Given the description of an element on the screen output the (x, y) to click on. 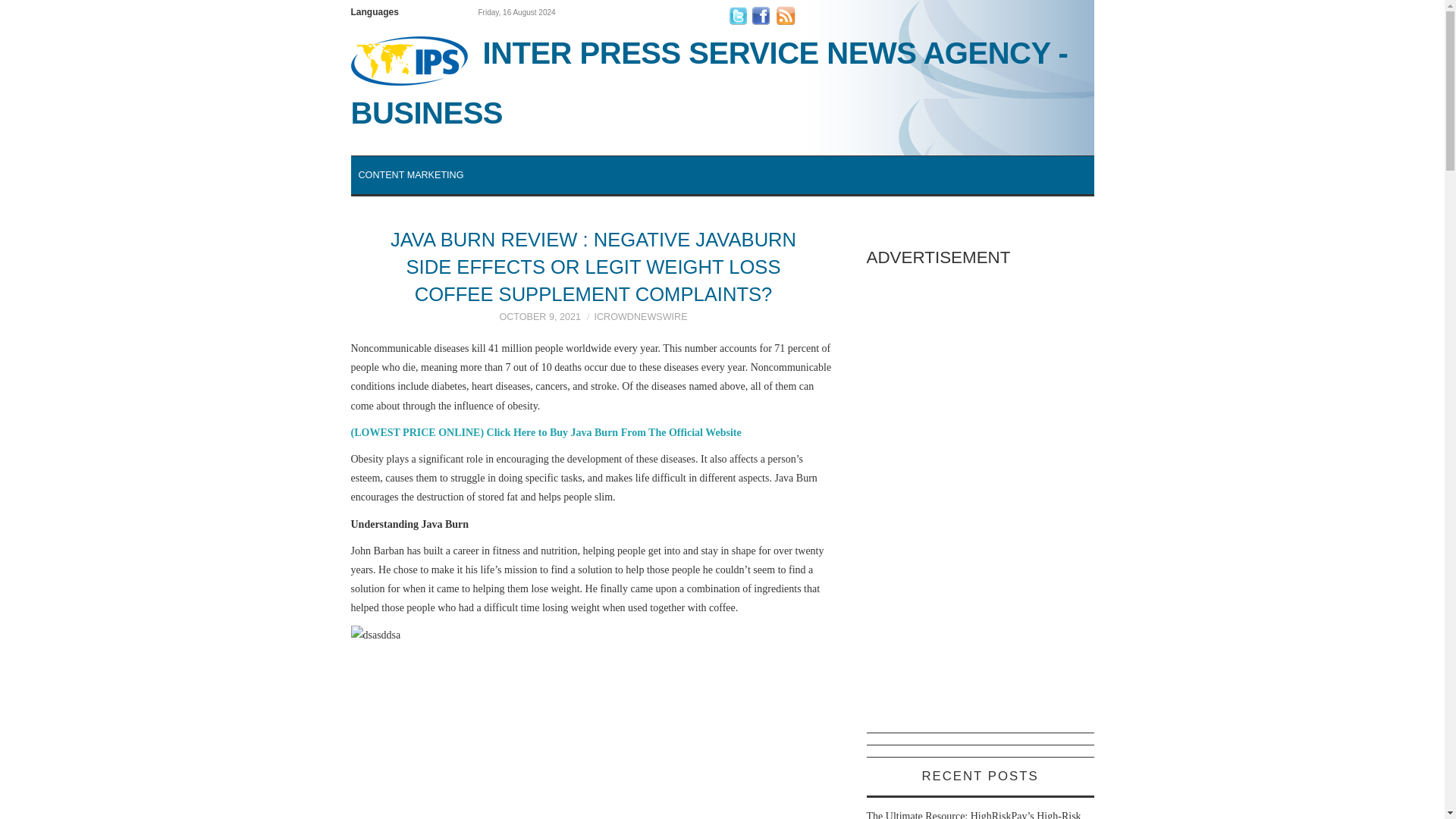
Business (721, 82)
INTER PRESS SERVICE NEWS AGENCY - BUSINESS (721, 82)
ICROWDNEWSWIRE (640, 317)
CONTENT MARKETING (410, 175)
OCTOBER 9, 2021 (539, 317)
